Given the description of an element on the screen output the (x, y) to click on. 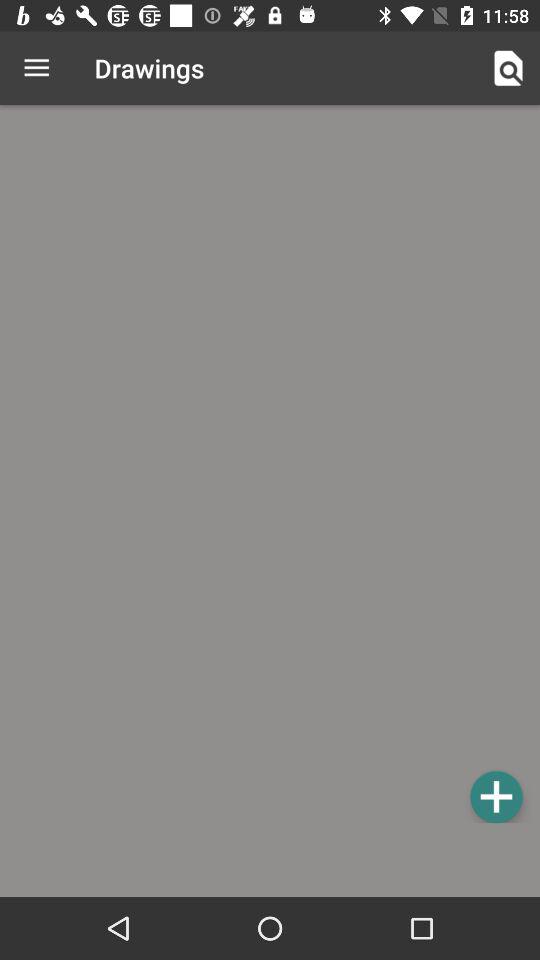
select the icon next to drawings (508, 67)
